Given the description of an element on the screen output the (x, y) to click on. 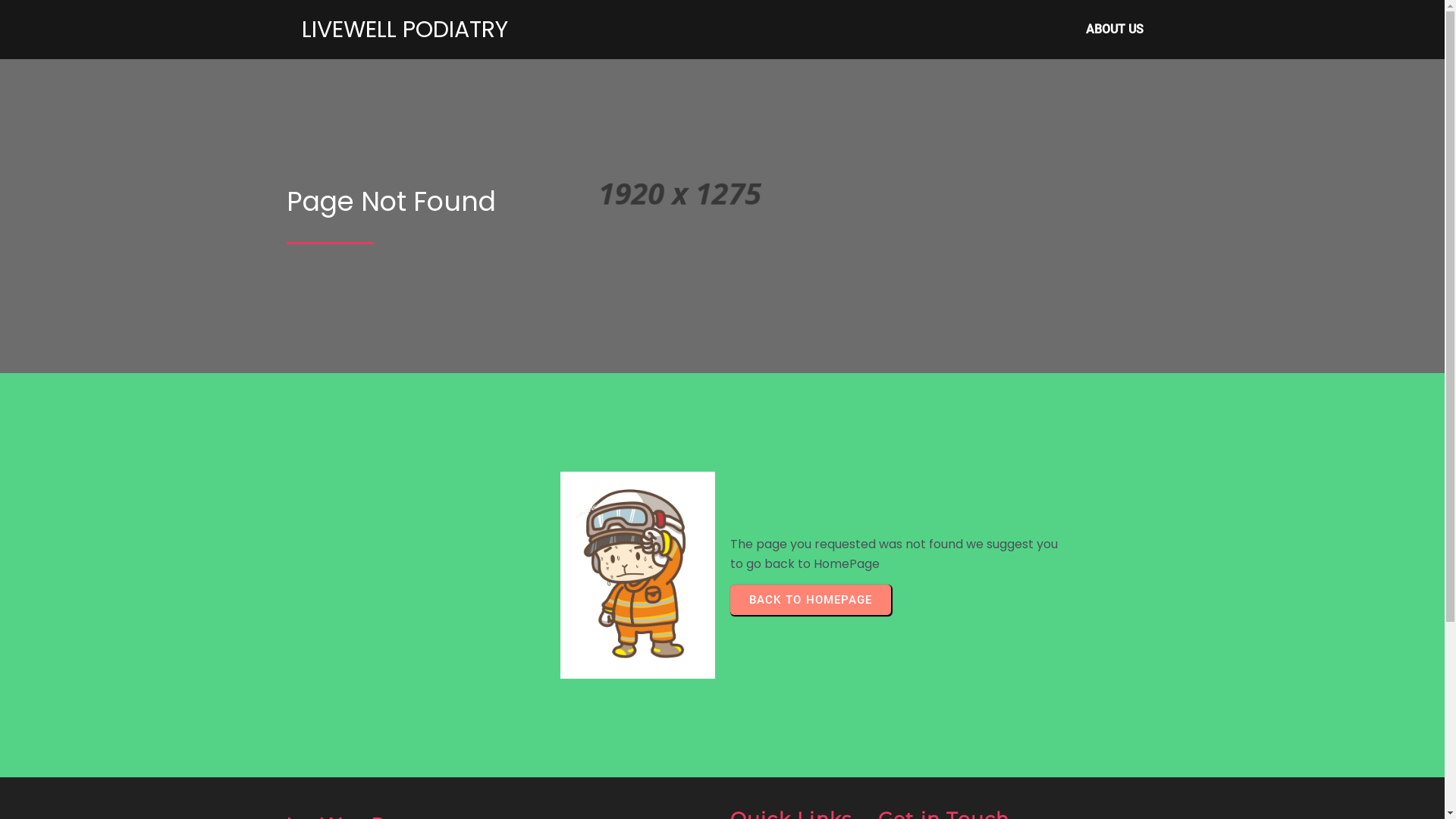
BACK TO HOMEPAGE Element type: text (809, 599)
LIVEWELL PODIATRY Element type: text (411, 29)
ABOUT US Element type: text (1114, 29)
